Given the description of an element on the screen output the (x, y) to click on. 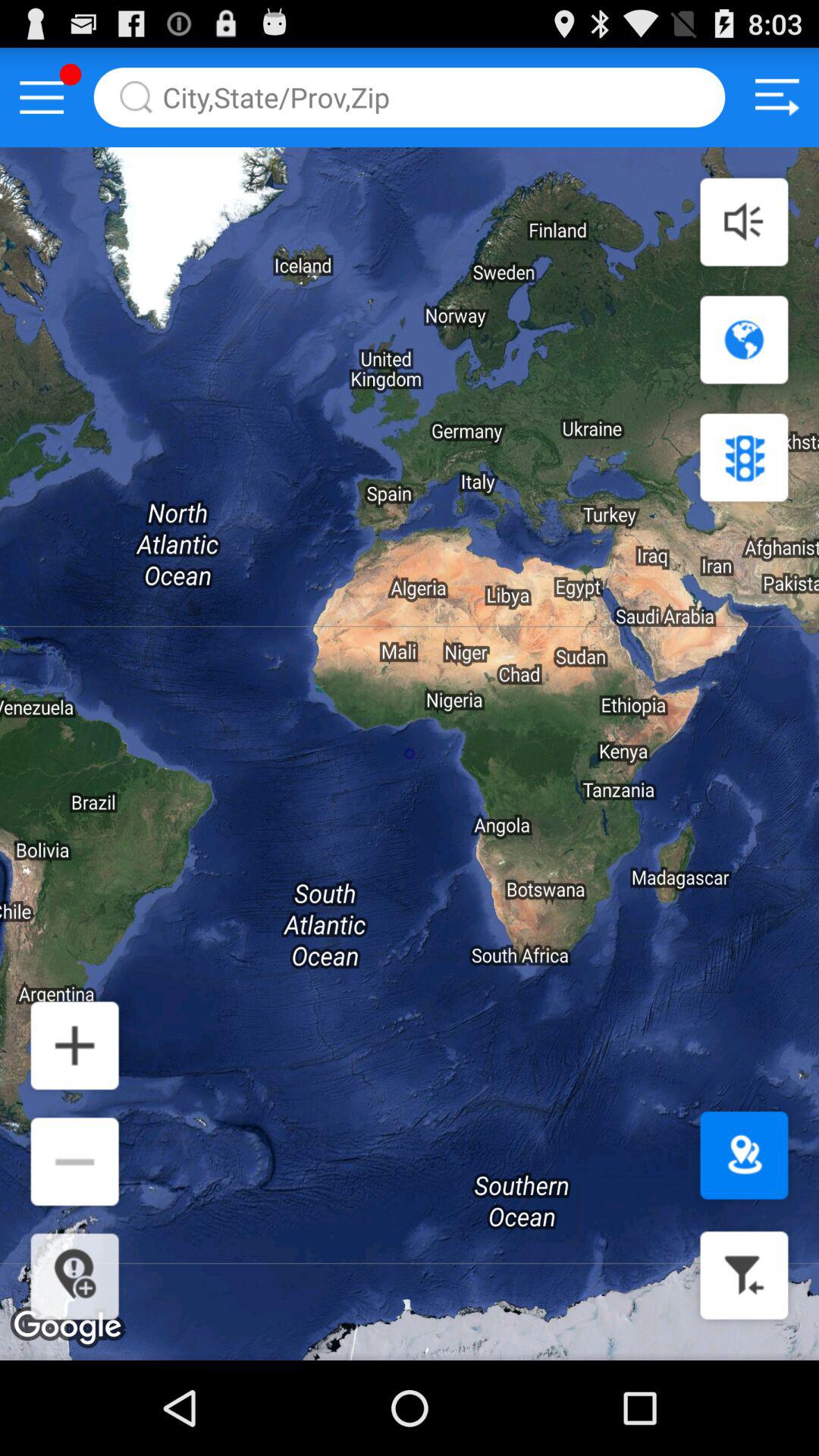
enlarge (74, 1045)
